Given the description of an element on the screen output the (x, y) to click on. 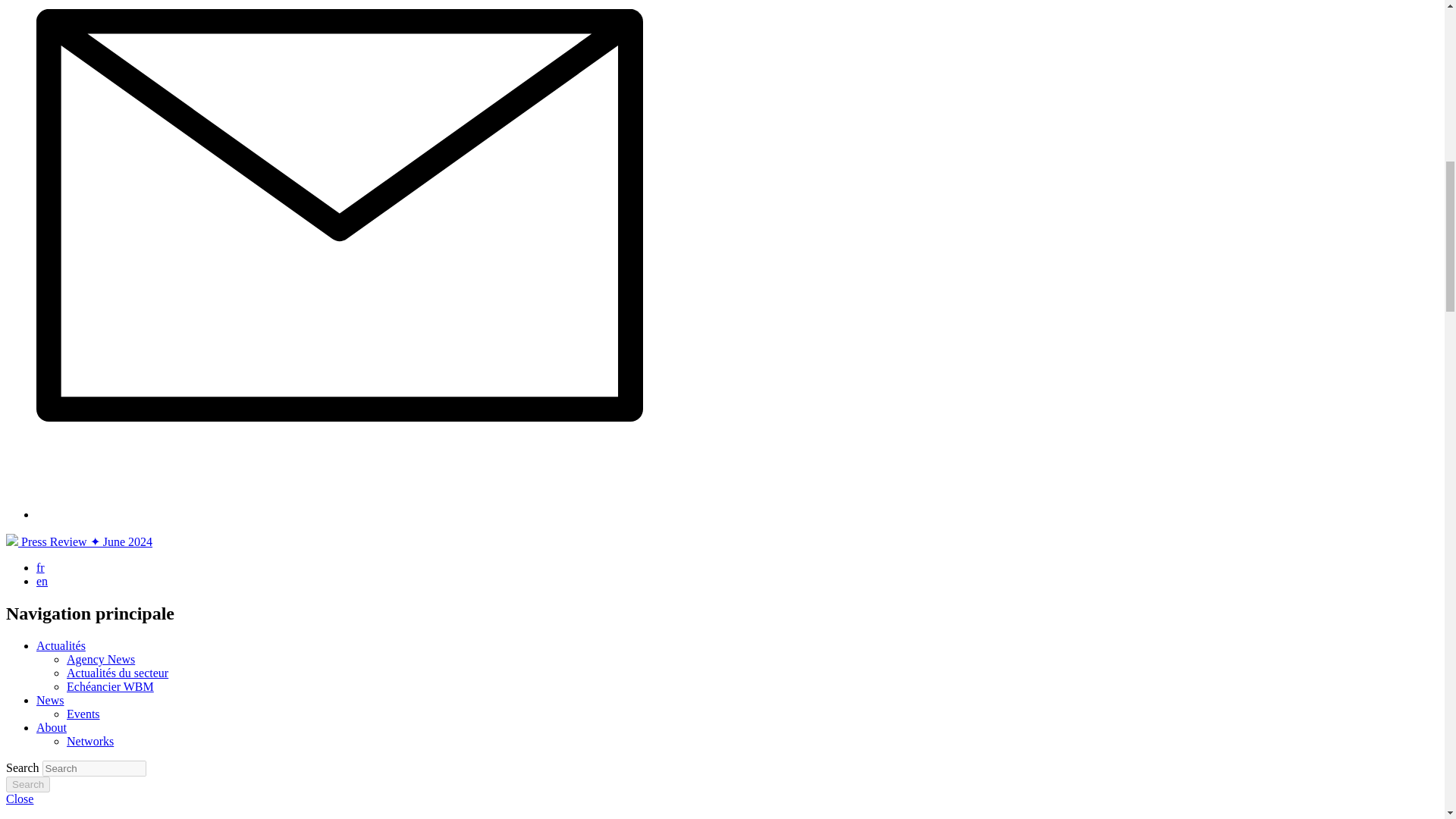
Events (83, 713)
Search (27, 784)
Search (27, 784)
Newsletters WBM (339, 513)
Close (19, 798)
News (50, 699)
About (51, 727)
en (42, 581)
Networks (89, 740)
Agency News (100, 658)
Enter the terms you wish to search for. (94, 768)
fr (40, 567)
